Given the description of an element on the screen output the (x, y) to click on. 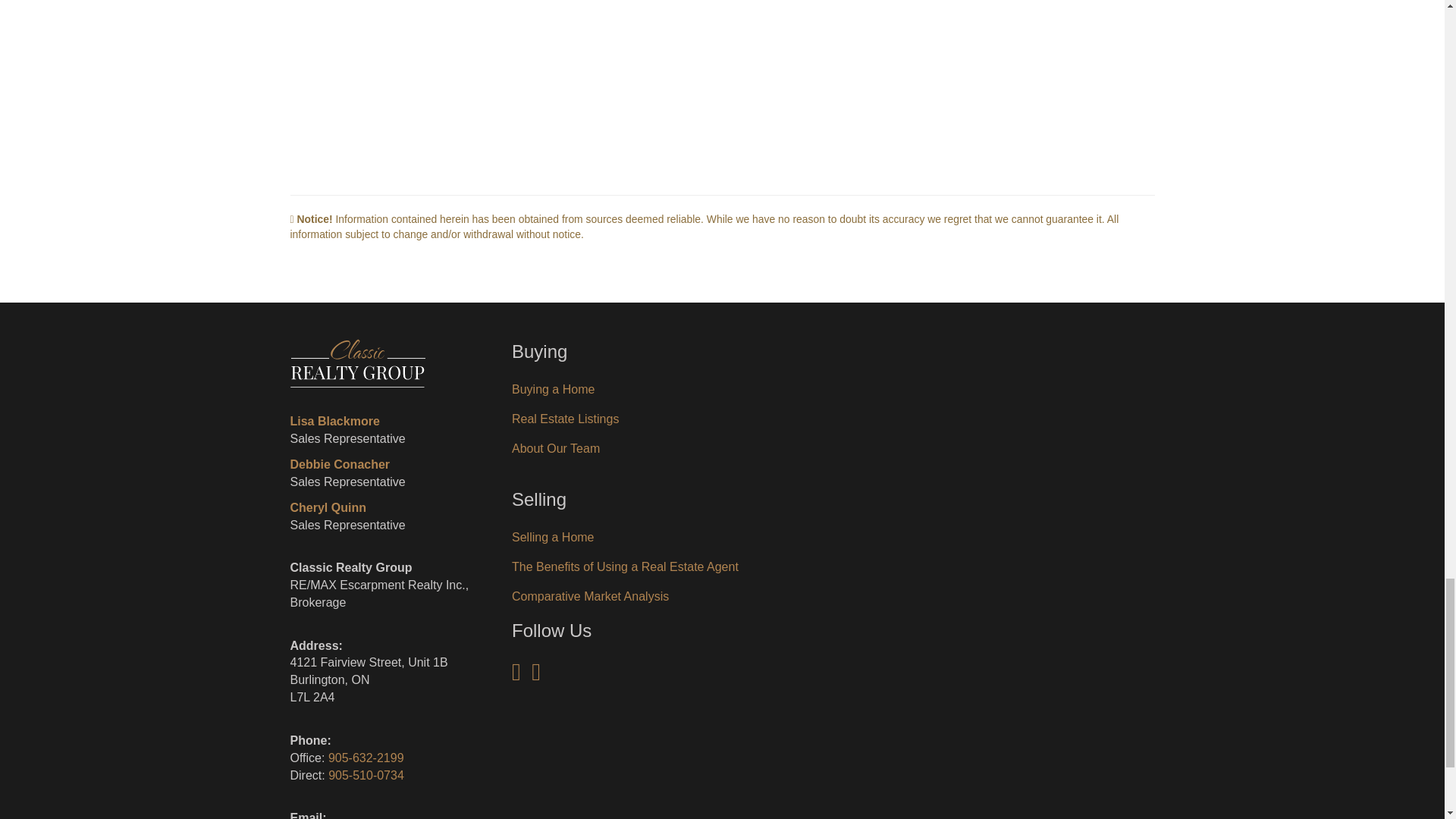
Burlington Real Estate Listings (565, 418)
Buying A Home (553, 389)
About Classic Realty Group (555, 448)
